Given the description of an element on the screen output the (x, y) to click on. 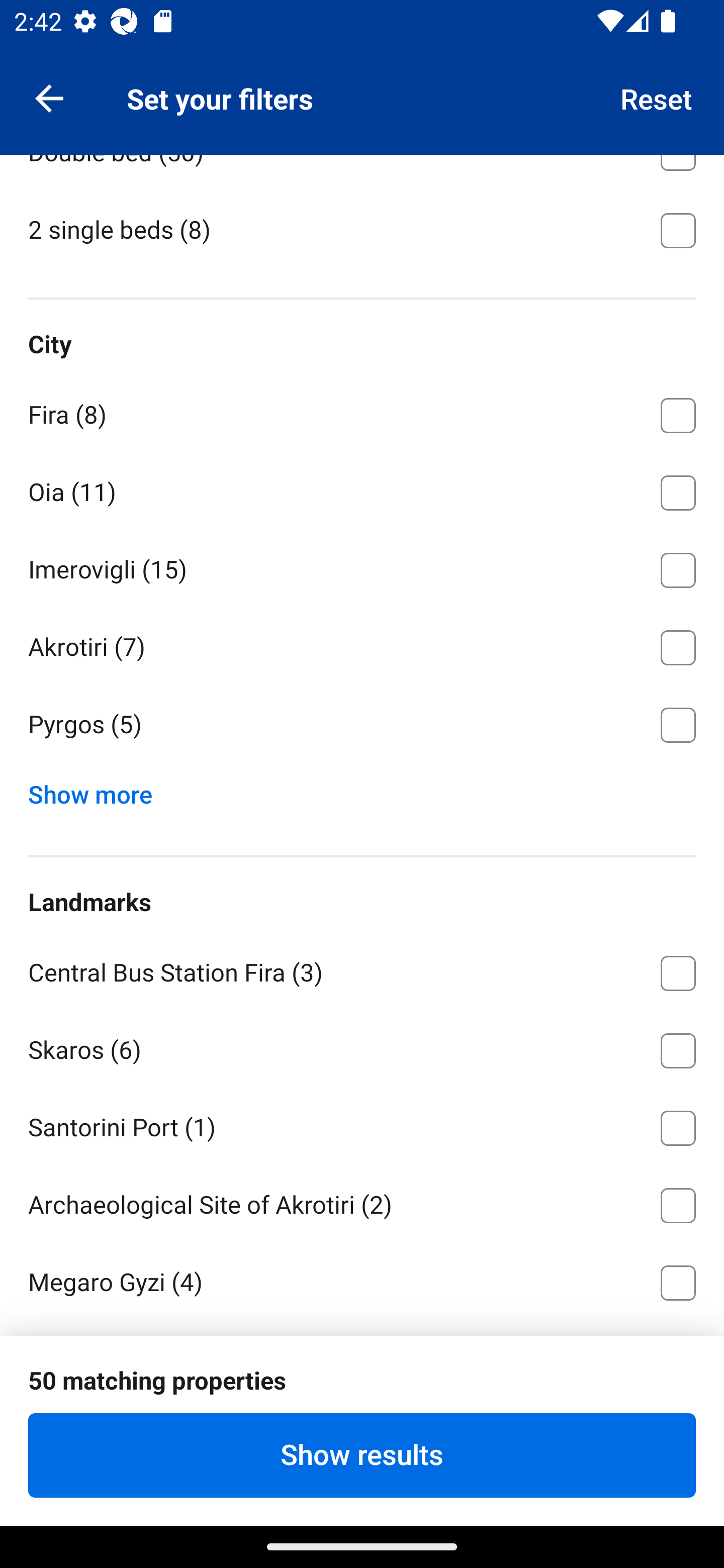
Navigate up (49, 97)
Reset (656, 97)
2 single beds ⁦(8) (361, 228)
Fira ⁦(8) (361, 412)
Oia ⁦(11) (361, 489)
Imerovigli ⁦(15) (361, 566)
Akrotiri ⁦(7) (361, 644)
Pyrgos ⁦(5) (361, 724)
Show more (97, 789)
Central Bus Station Fira ⁦(3) (361, 969)
Skaros ⁦(6) (361, 1047)
Santorini Port ⁦(1) (361, 1124)
Archaeological Site of Akrotiri ⁦(2) (361, 1201)
Megaro Gyzi ⁦(4) (361, 1282)
Show results (361, 1454)
